Given the description of an element on the screen output the (x, y) to click on. 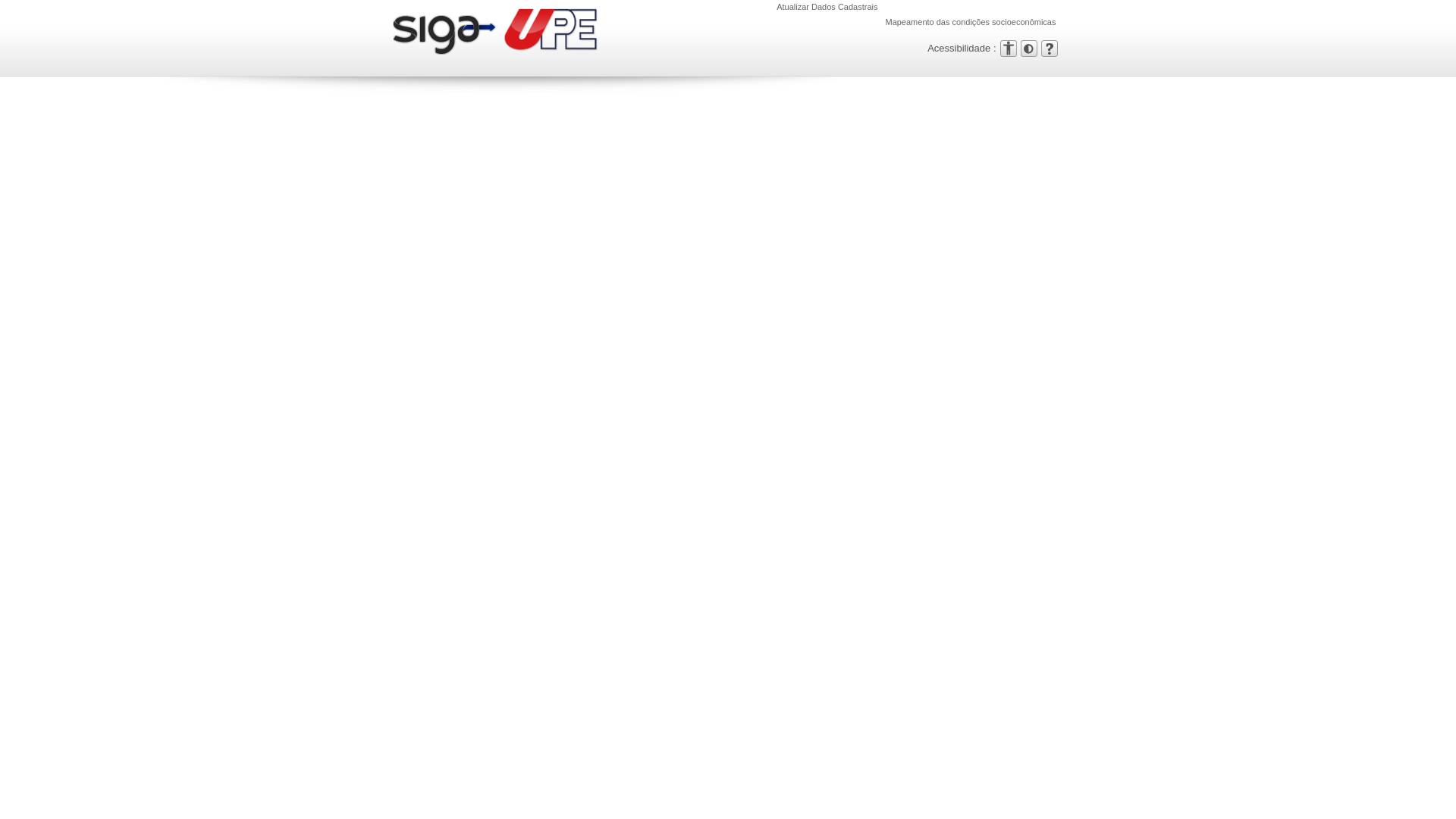
SIG@UPE Element type: hover (445, 34)
Ajuda Element type: hover (1048, 47)
Contraste Element type: text (1028, 47)
Acessibilidade Element type: text (1007, 47)
Atualizar Dados Cadastrais Element type: text (826, 6)
